Given the description of an element on the screen output the (x, y) to click on. 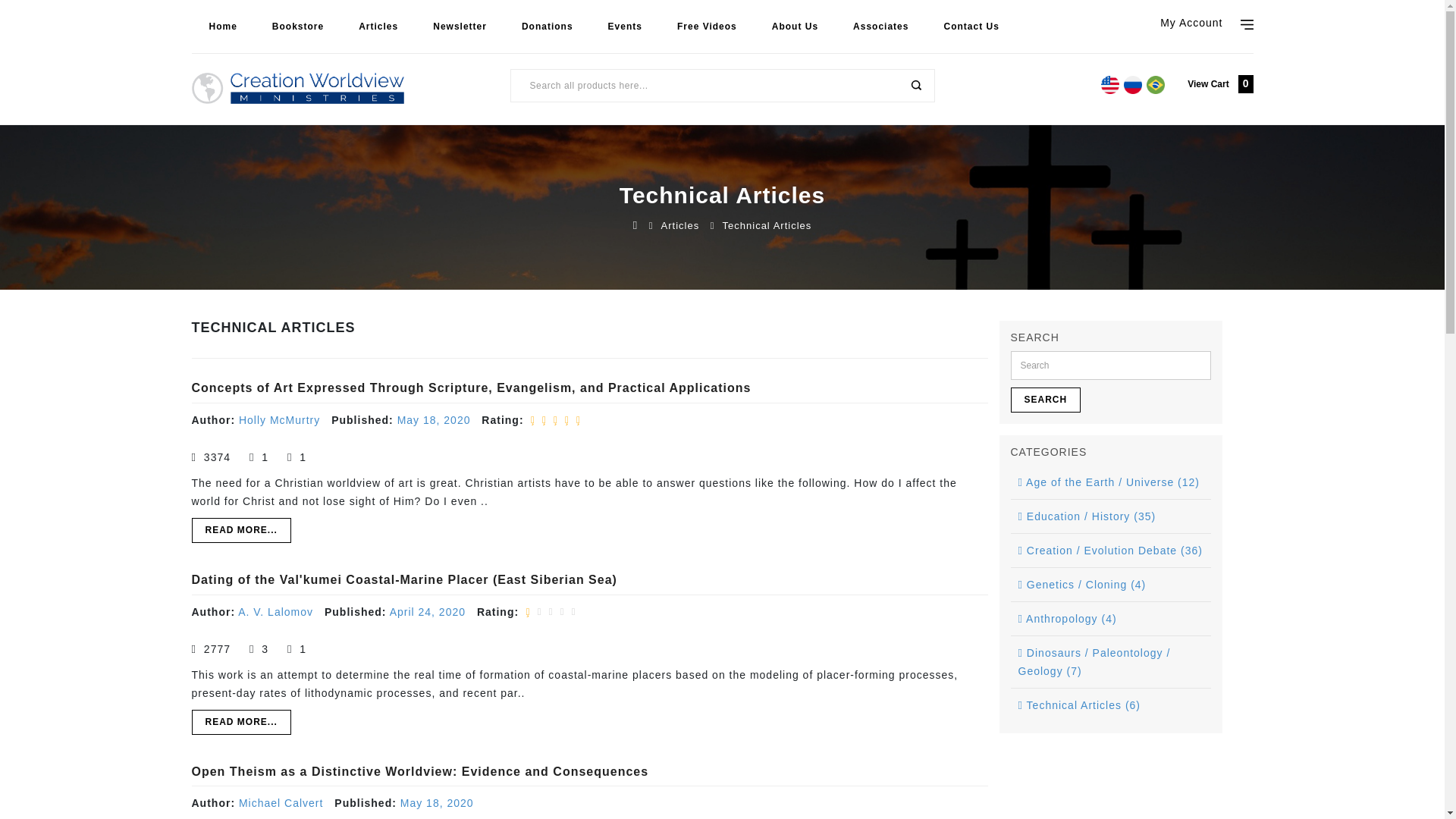
Technical Articles (767, 225)
Contact Us (970, 26)
My Account (1206, 20)
English (332, 64)
READ MORE... (239, 722)
Donations (547, 26)
READ MORE... (239, 529)
Language: Portuguese (1155, 85)
Michael Calvert (280, 802)
May 18, 2020 (437, 802)
